Given the description of an element on the screen output the (x, y) to click on. 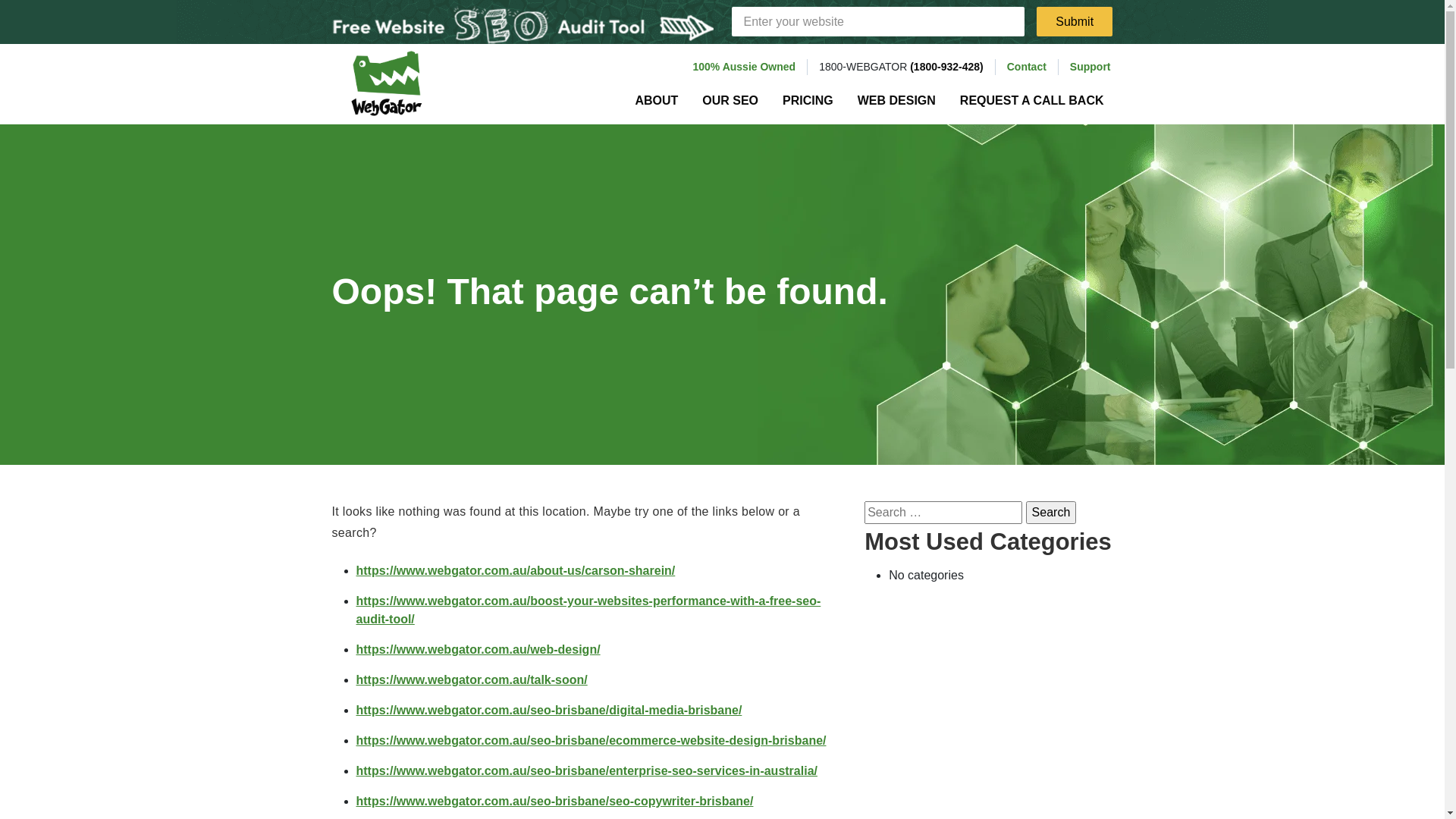
PRICING Element type: text (807, 100)
WEB DESIGN Element type: text (896, 100)
https://www.webgator.com.au/talk-soon/ Element type: text (471, 679)
https://www.webgator.com.au/about-us/carson-sharein/ Element type: text (515, 570)
OUR SEO Element type: text (730, 100)
Contact Element type: text (1026, 66)
(1800-932-428) Element type: text (946, 66)
ABOUT Element type: text (655, 100)
Submit Element type: text (1074, 21)
Search Element type: text (1051, 512)
REQUEST A CALL BACK Element type: text (1032, 100)
https://www.webgator.com.au/web-design/ Element type: text (478, 649)
Support Element type: text (1090, 66)
